Given the description of an element on the screen output the (x, y) to click on. 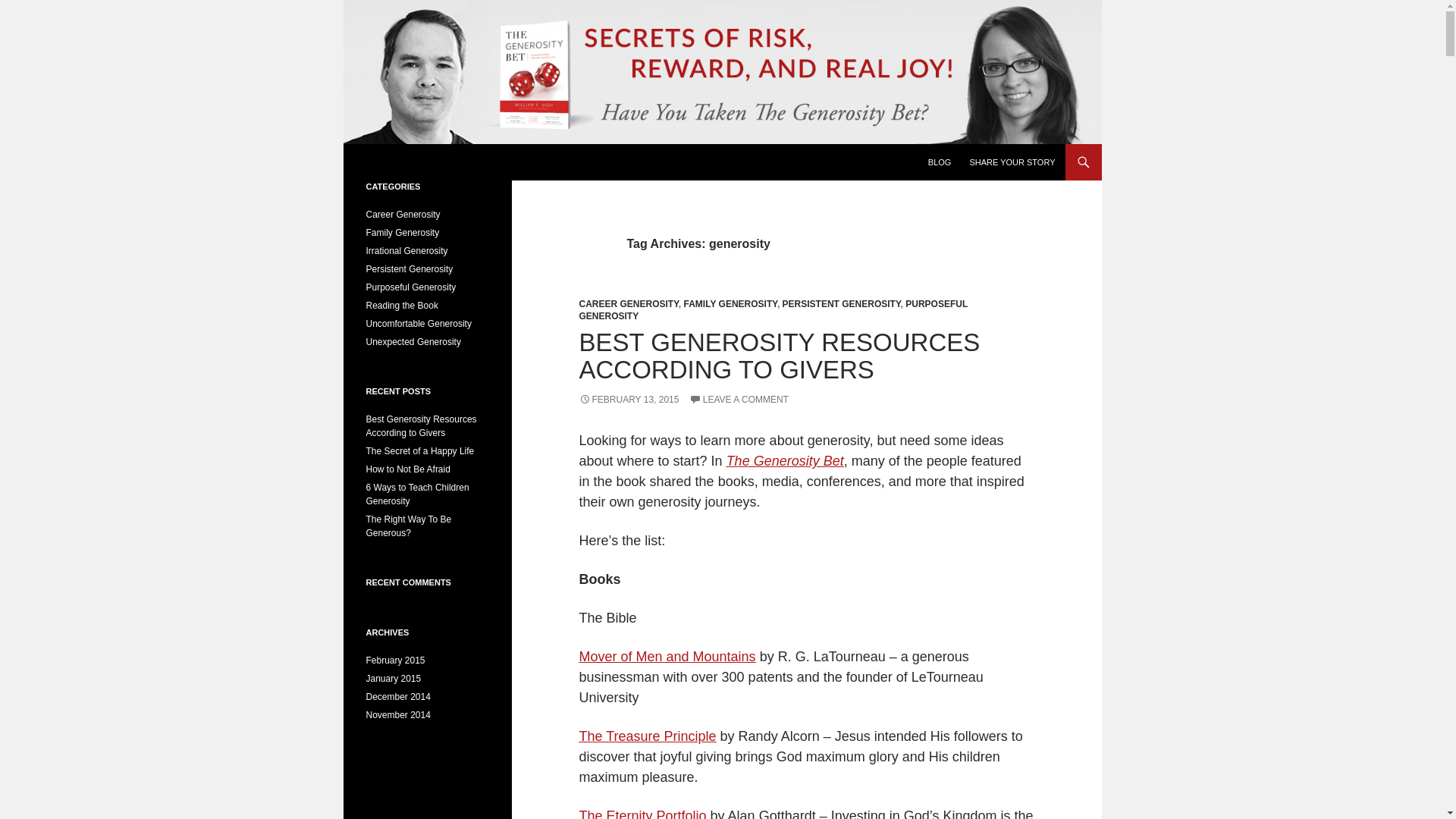
Search (368, 154)
The Treasure Principle (647, 735)
LEAVE A COMMENT (738, 398)
CAREER GENEROSITY (628, 303)
The Eternity Portfolio (642, 813)
SHARE YOUR STORY (1011, 162)
FEBRUARY 13, 2015 (629, 398)
Comment on Best Generosity Resources According to Givers (738, 398)
BEST GENEROSITY RESOURCES ACCORDING TO GIVERS (779, 356)
PERSISTENT GENEROSITY (842, 303)
The Generosity Bet (785, 460)
Mover of Men and Mountains (667, 656)
BLOG (939, 162)
SKIP TO CONTENT (964, 150)
FAMILY GENEROSITY (730, 303)
